Given the description of an element on the screen output the (x, y) to click on. 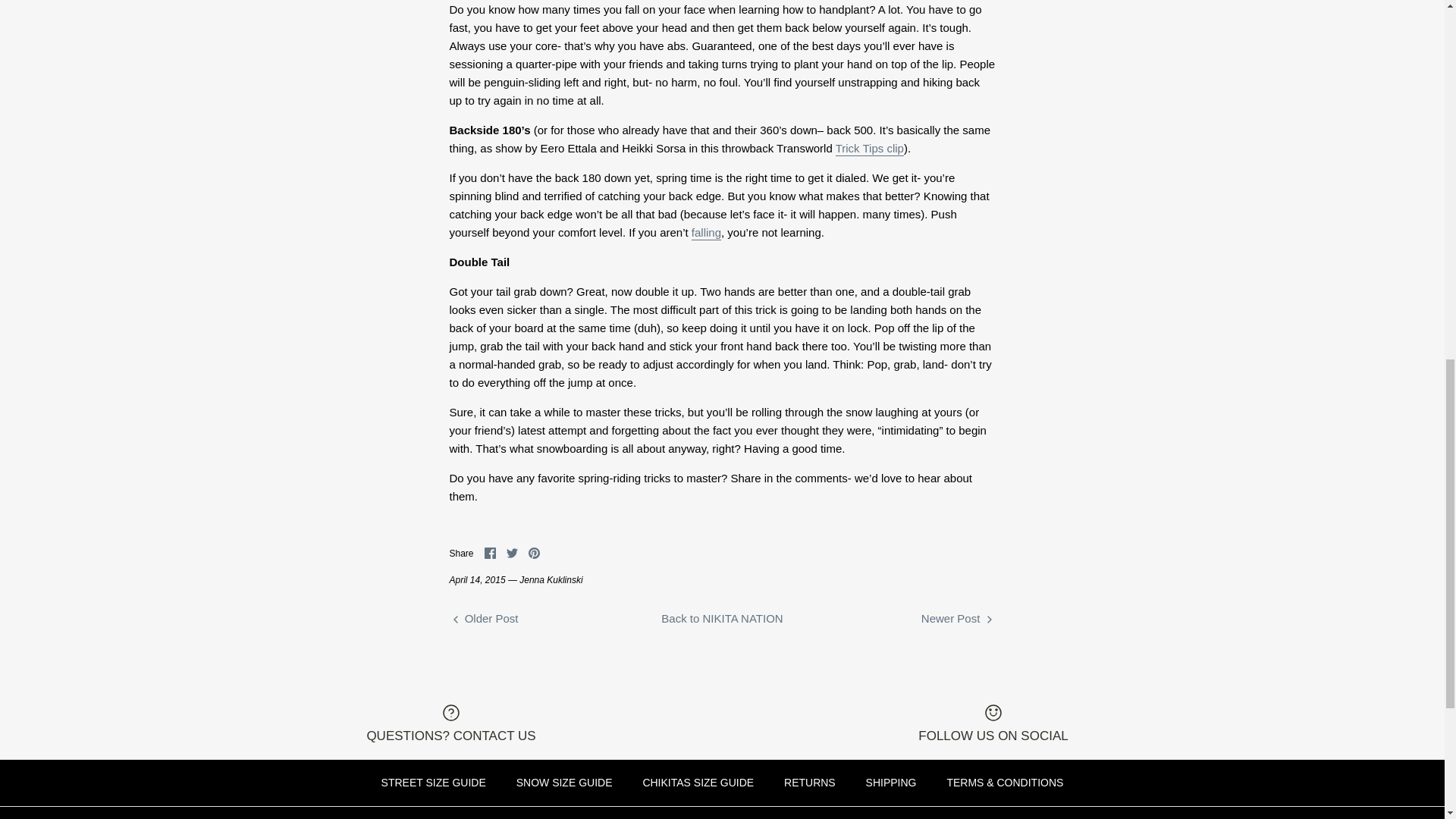
Twitter (512, 552)
Pinterest (534, 552)
Left (454, 619)
Right (988, 619)
Facebook (490, 552)
